Given the description of an element on the screen output the (x, y) to click on. 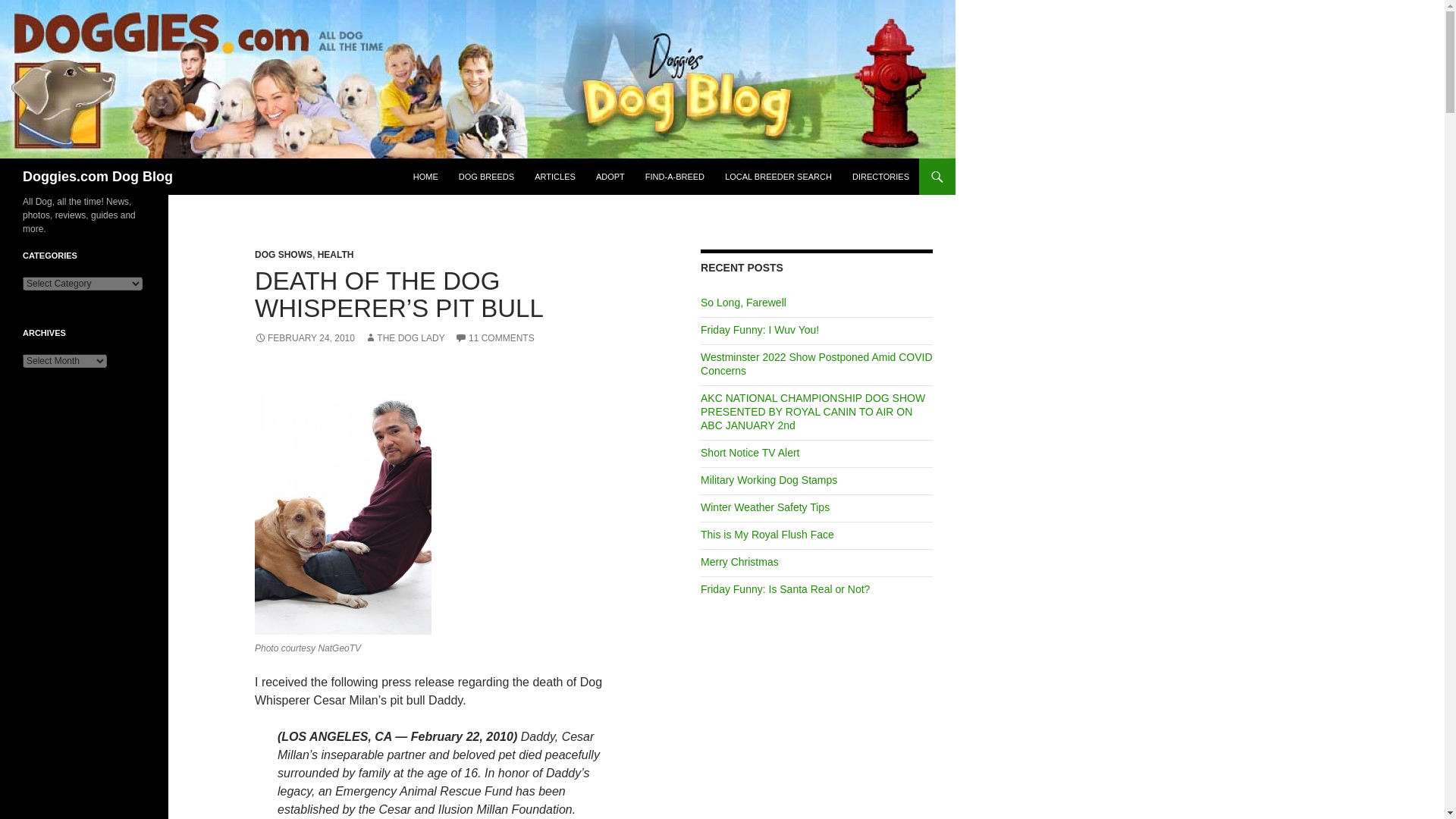
DOG BREEDS (485, 176)
HEALTH (335, 254)
ARTICLES (555, 176)
THE DOG LADY (404, 337)
11 COMMENTS (494, 337)
FIND-A-BREED (674, 176)
LOCAL BREEDER SEARCH (778, 176)
DOG SHOWS (283, 254)
DIRECTORIES (880, 176)
FEBRUARY 24, 2010 (304, 337)
ADOPT (609, 176)
HOME (425, 176)
Doggies.com Dog Blog (98, 176)
